Given the description of an element on the screen output the (x, y) to click on. 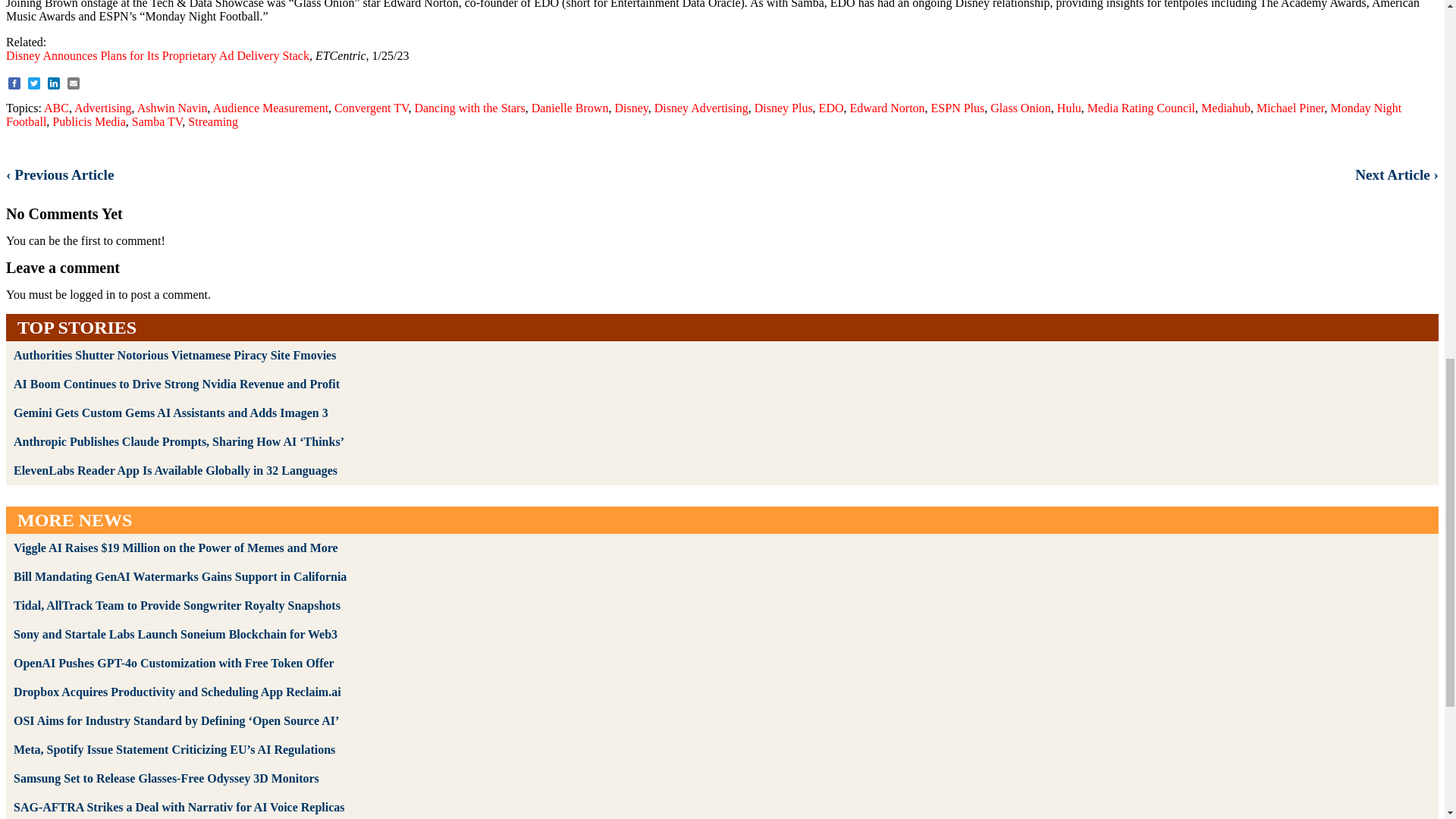
Disney (630, 107)
Disney Advertising (700, 107)
Michael Piner (1290, 107)
EDO (831, 107)
Disney Plus (783, 107)
ESPN Plus (958, 107)
Mediahub (1225, 107)
